Given the description of an element on the screen output the (x, y) to click on. 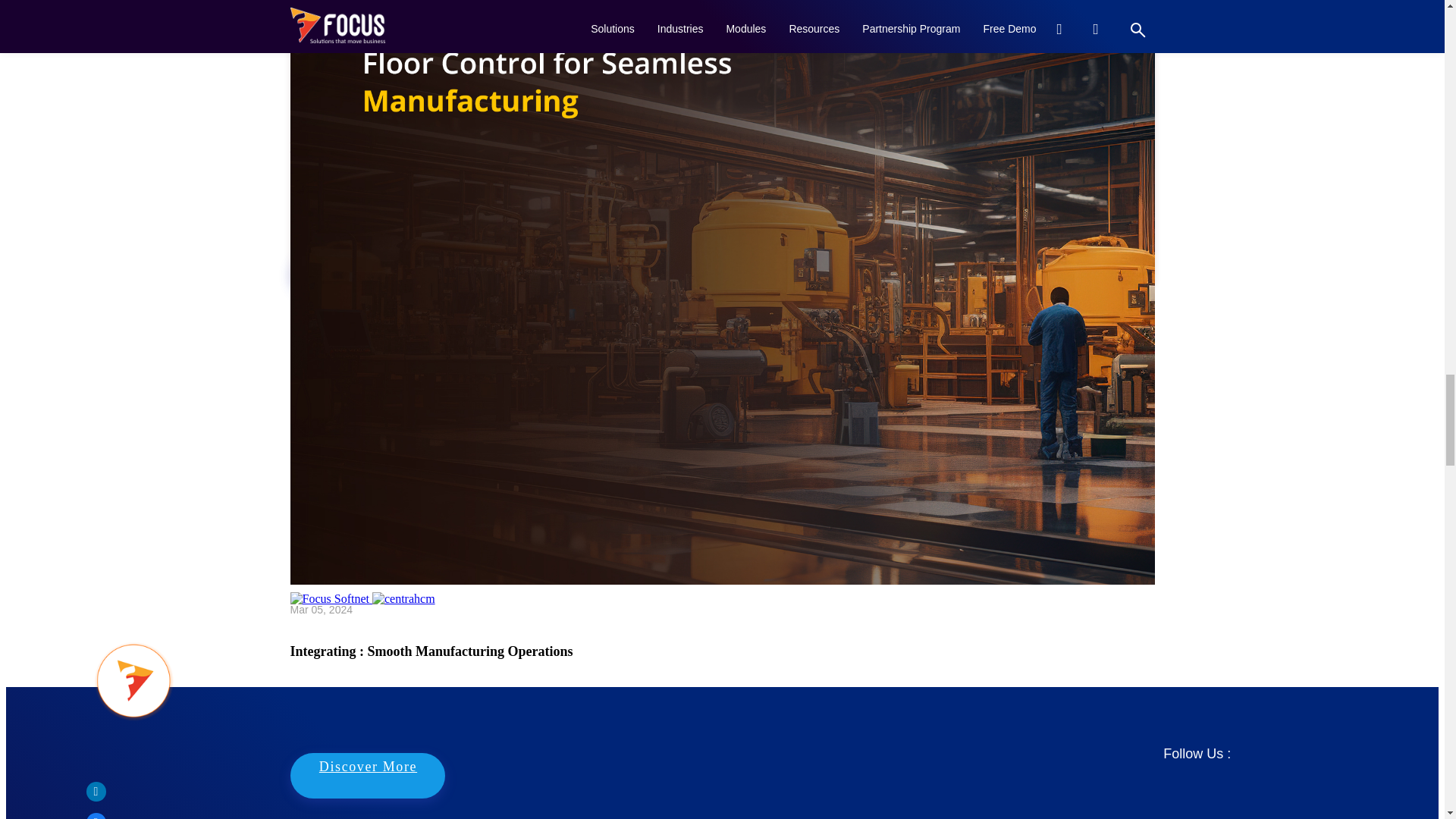
Focus X (421, 467)
Focus Softnet (328, 532)
Focus Softnet (328, 599)
centrahcm (403, 599)
Focus Softnet (352, 467)
centracrm (402, 532)
